Given the description of an element on the screen output the (x, y) to click on. 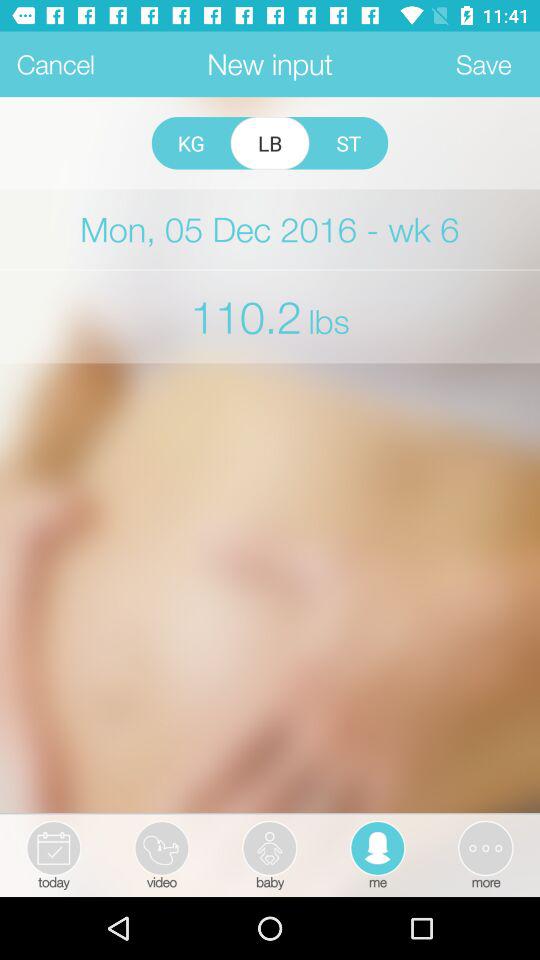
launch icon below new input icon (190, 143)
